Given the description of an element on the screen output the (x, y) to click on. 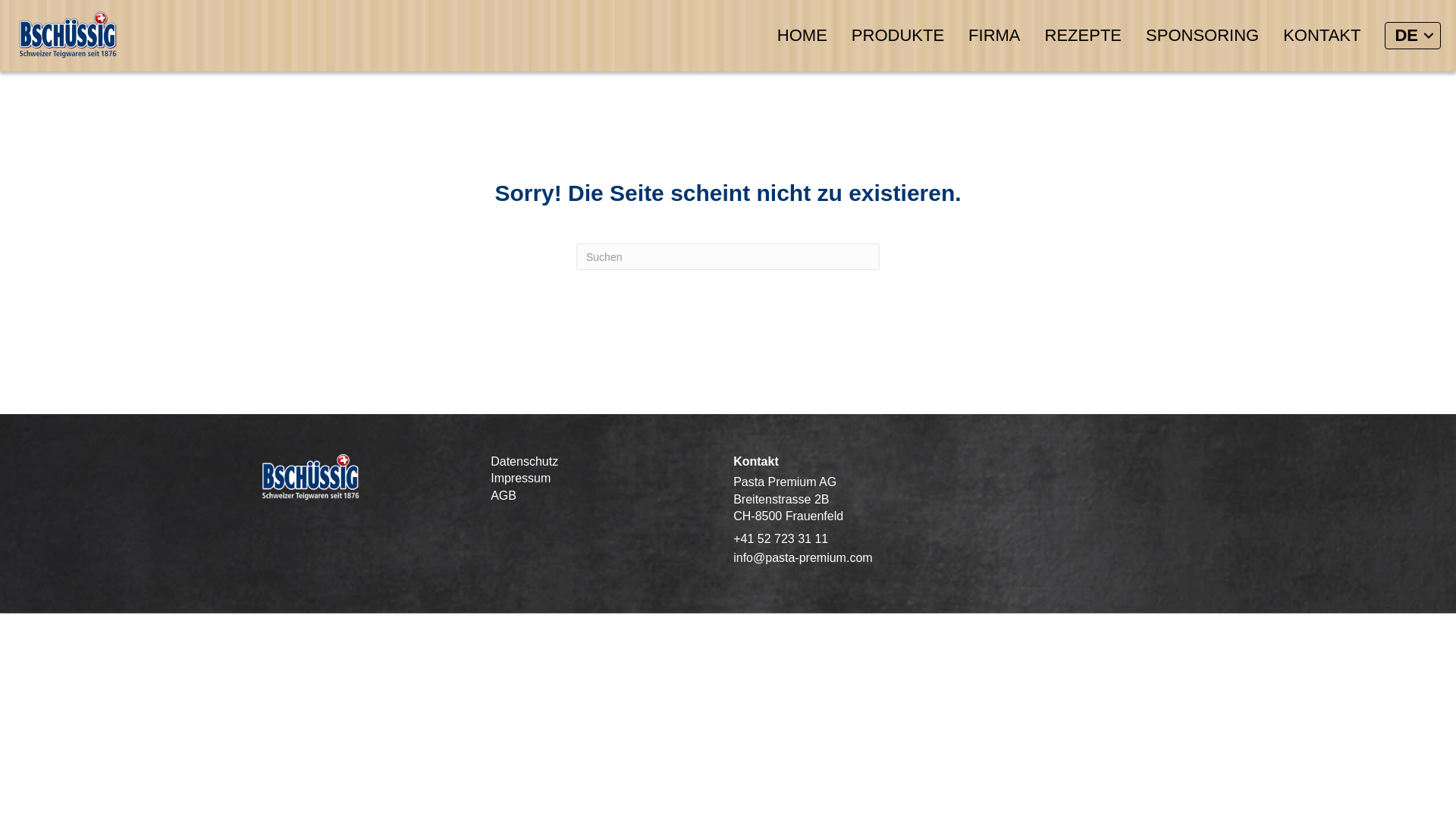
Datenschutz Element type: text (596, 461)
logo Element type: hover (67, 34)
KONTAKT Element type: text (1321, 35)
REZEPTE Element type: text (1082, 35)
info@pasta-premium.com Element type: text (802, 557)
FIRMA Element type: text (993, 35)
+41 52 723 31 11 Element type: text (780, 538)
Suchbegriff hier eingeben ... Element type: hover (727, 256)
AGB Element type: text (596, 495)
DE Element type: text (1412, 35)
SPONSORING Element type: text (1201, 35)
HOME Element type: text (802, 35)
footer-logo-01 Element type: hover (309, 476)
PRODUKTE Element type: text (897, 35)
Impressum Element type: text (596, 478)
